Given the description of an element on the screen output the (x, y) to click on. 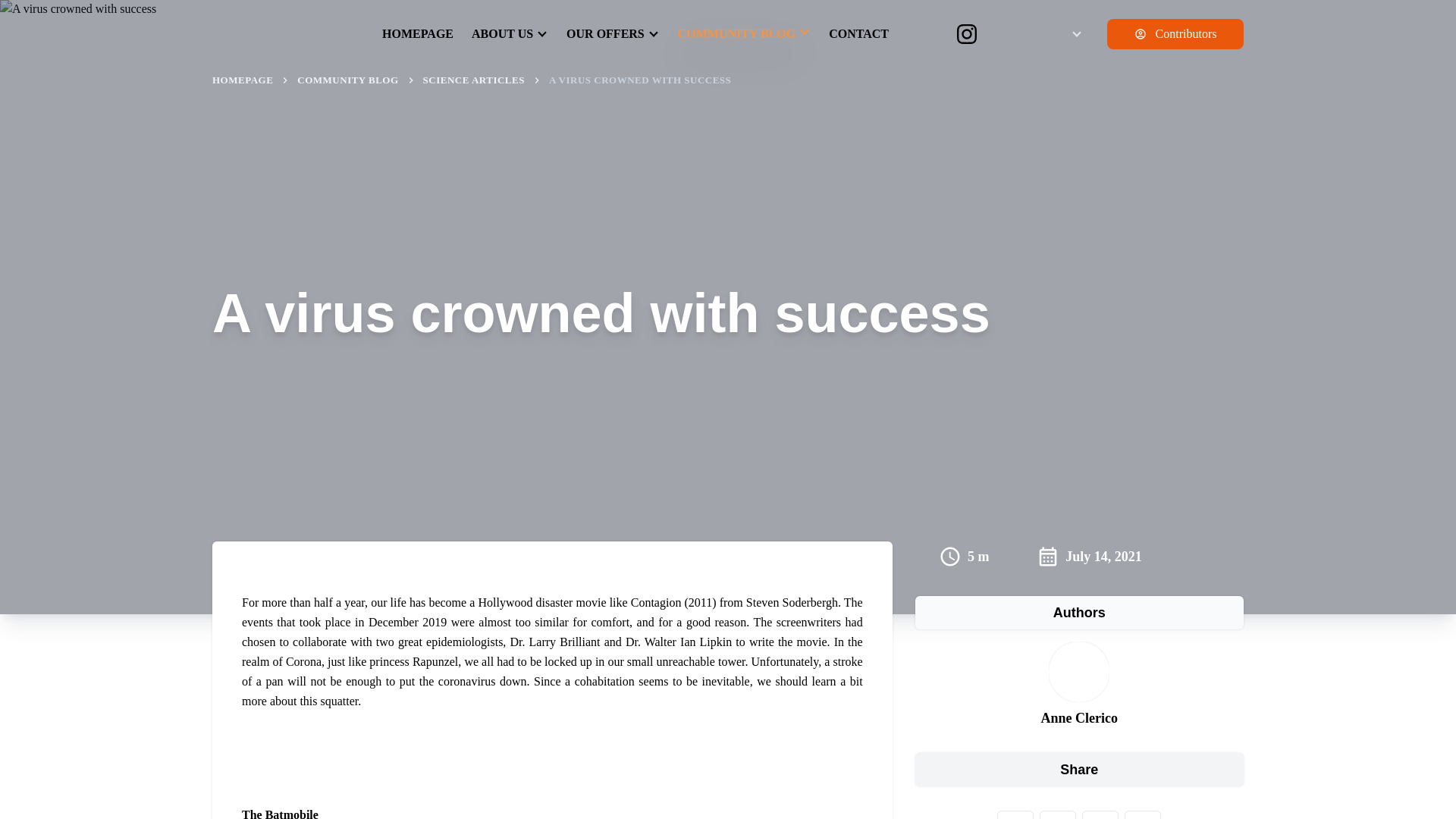
COMMUNITY BLOG (744, 30)
OUR OFFERS (612, 30)
HOMEPAGE (242, 79)
ABOUT US (509, 30)
CONTACT (858, 30)
HOMEPAGE (416, 30)
SCIENCE ARTICLES (473, 79)
COMMUNITY BLOG (347, 79)
